Given the description of an element on the screen output the (x, y) to click on. 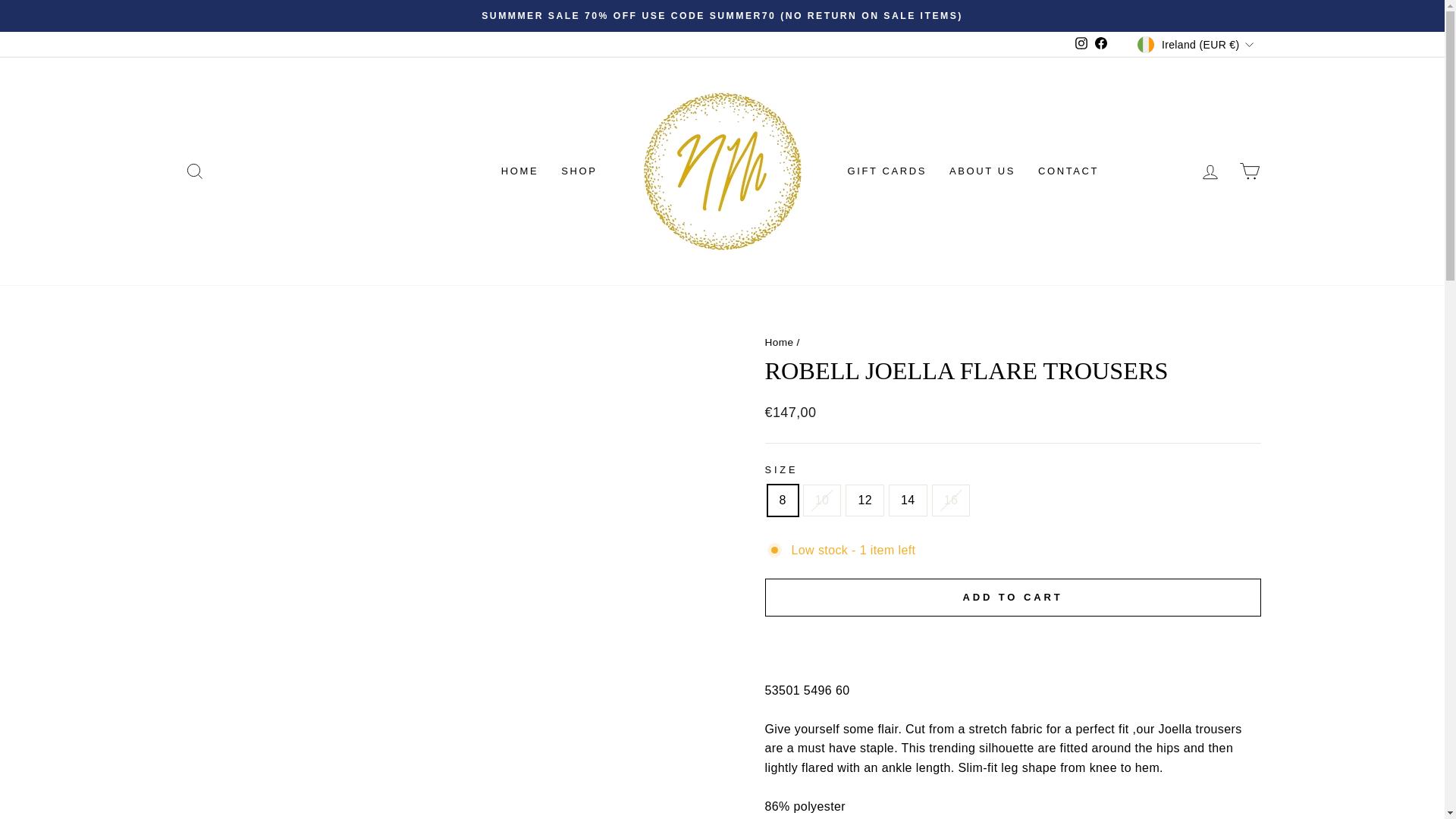
Back to the frontpage (778, 342)
